Given the description of an element on the screen output the (x, y) to click on. 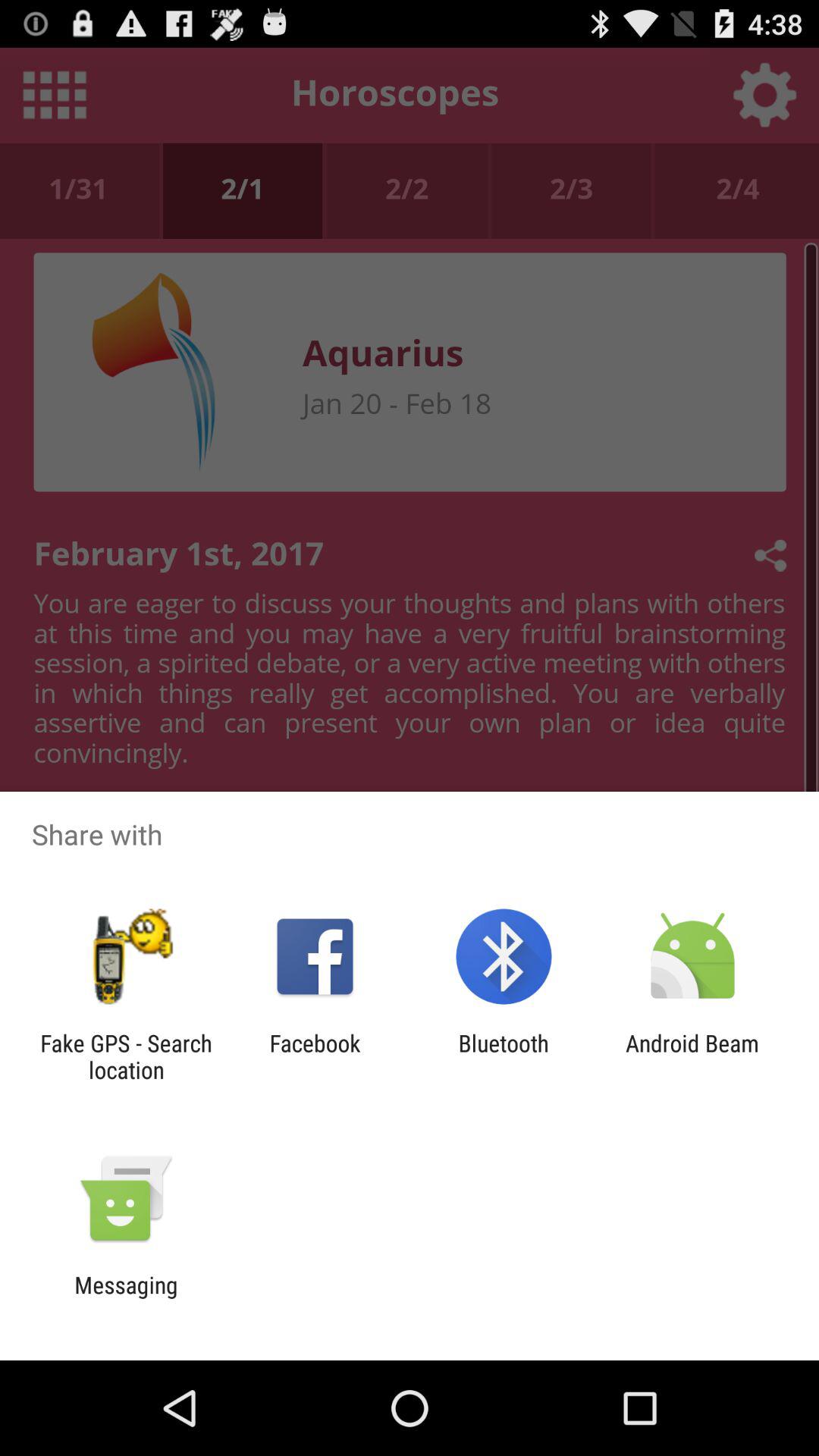
swipe to facebook icon (314, 1056)
